Given the description of an element on the screen output the (x, y) to click on. 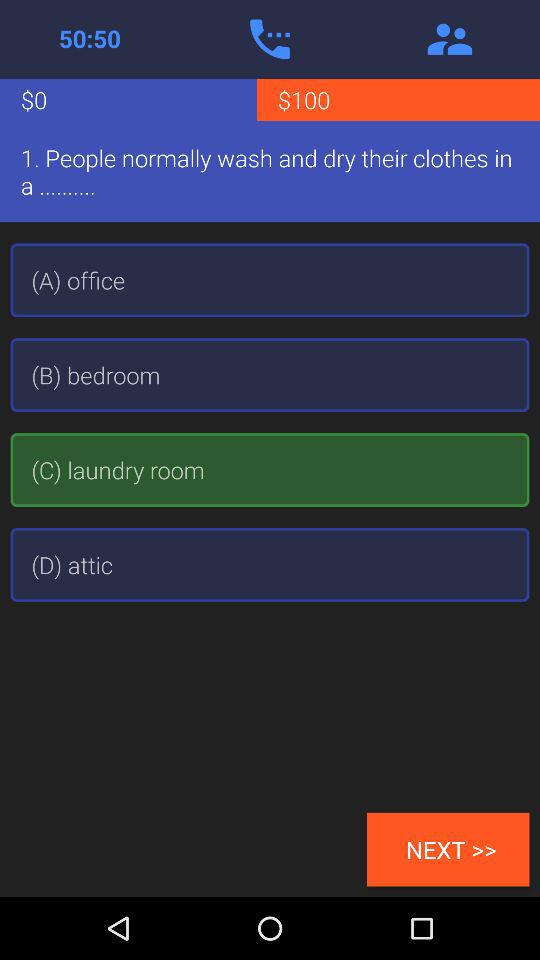
choose the icon below (b) bedroom app (269, 469)
